Given the description of an element on the screen output the (x, y) to click on. 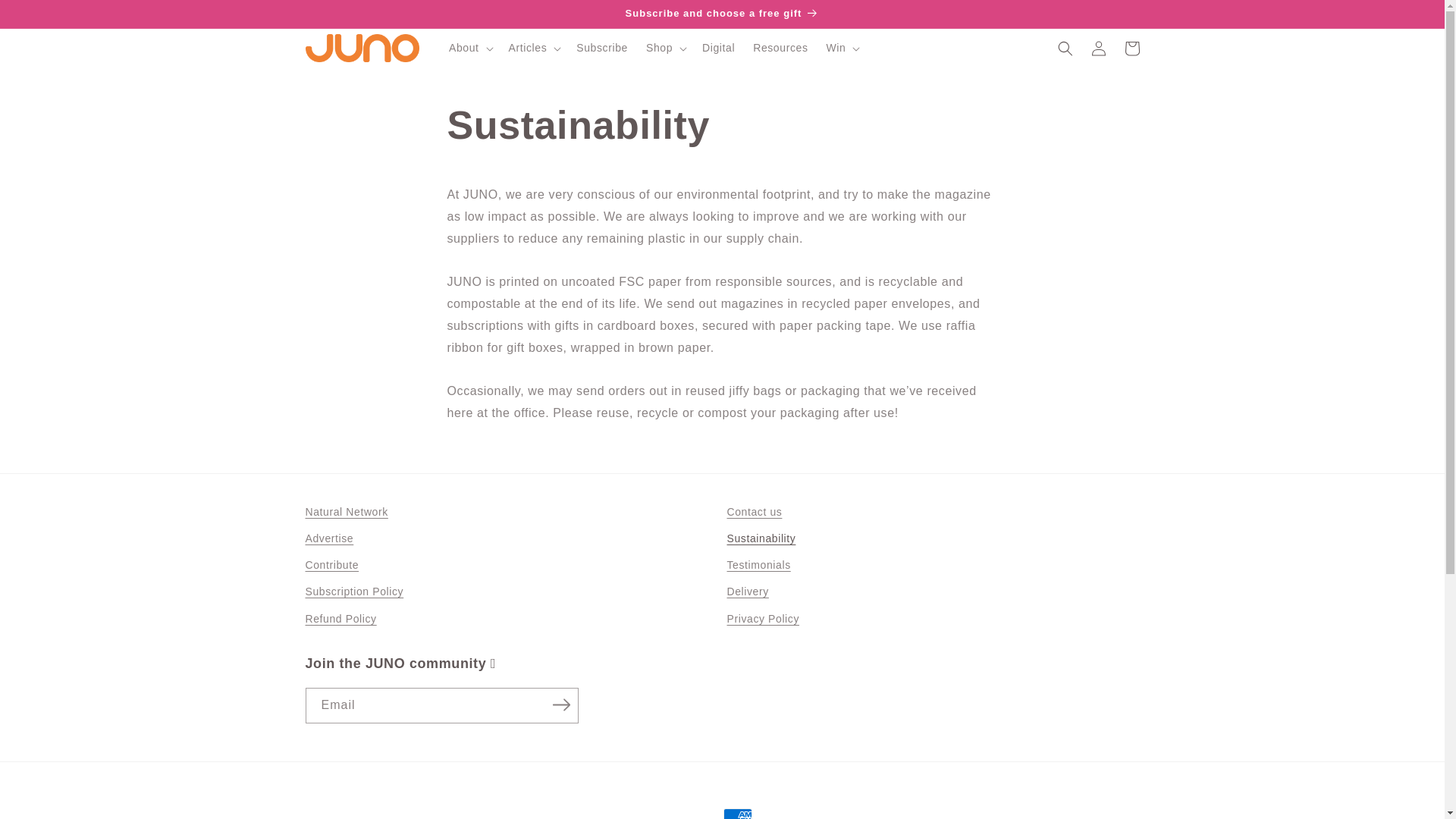
Skip to content (45, 16)
American Express (737, 813)
